Given the description of an element on the screen output the (x, y) to click on. 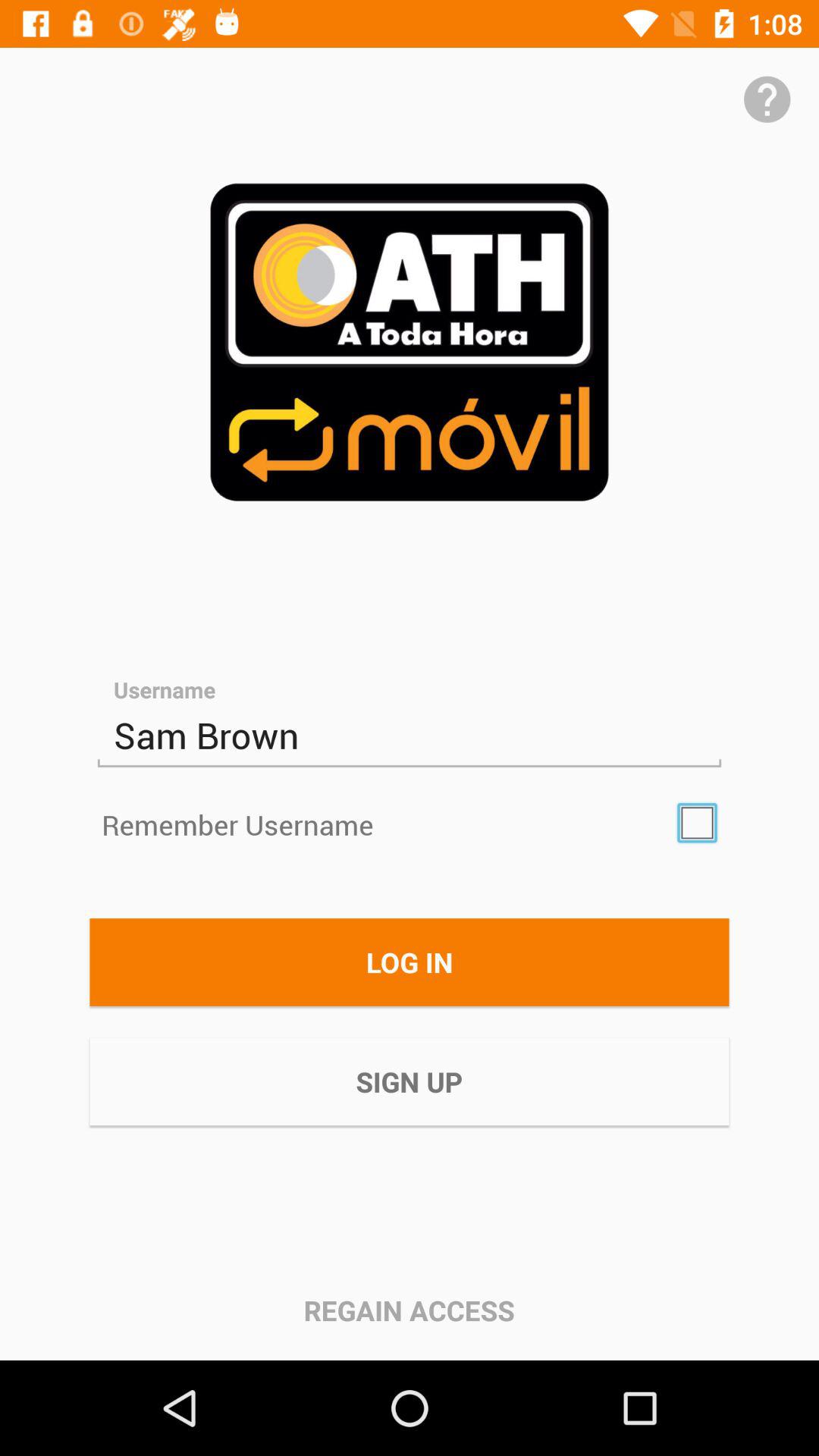
jump until the log in icon (409, 962)
